Given the description of an element on the screen output the (x, y) to click on. 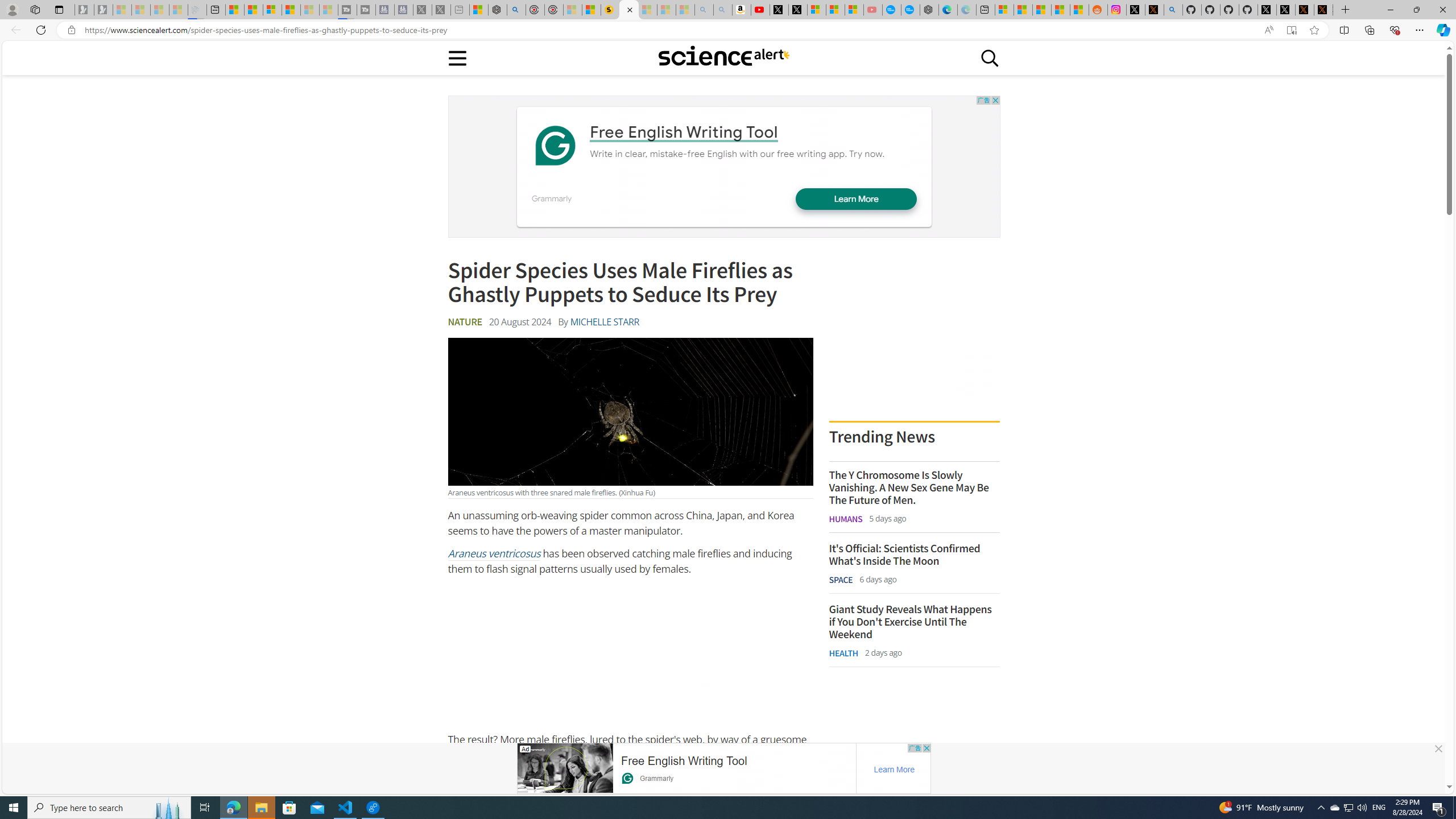
Newsletter Sign Up - Sleeping (102, 9)
Microsoft Start - Sleeping (309, 9)
poe - Search (515, 9)
Opinion: Op-Ed and Commentary - USA TODAY (891, 9)
Microsoft account | Microsoft Account Privacy Settings (1004, 9)
